Given the description of an element on the screen output the (x, y) to click on. 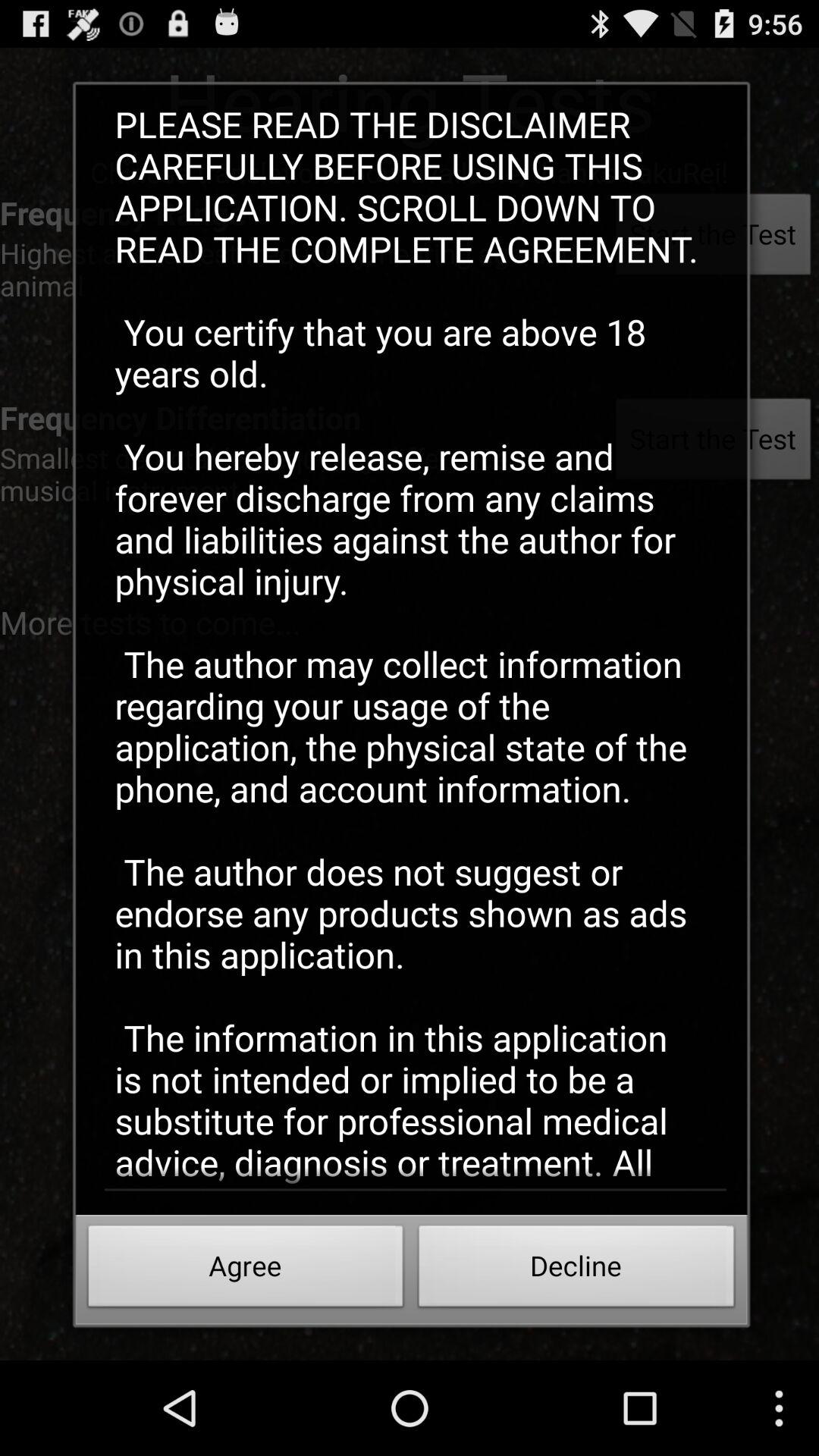
choose the button to the right of agree button (576, 1270)
